Given the description of an element on the screen output the (x, y) to click on. 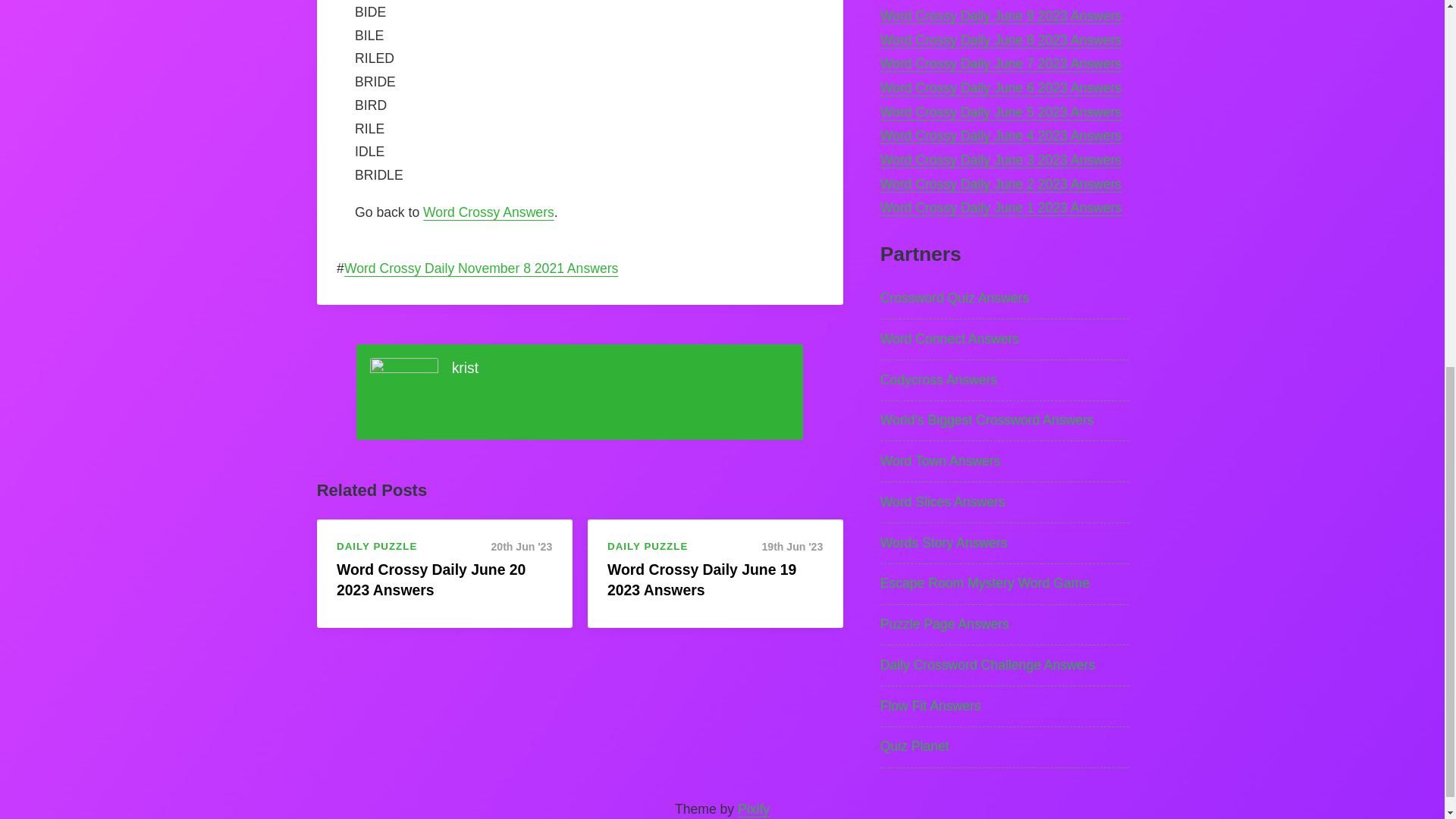
Codycross Answers (1004, 380)
Word Crossy Answers (488, 212)
Word Crossy Daily June 1 2023 Answers (1000, 207)
Word Slices Answers (1004, 502)
Codycross Answers (1004, 380)
Word Slices Answers (1004, 502)
Word Crossy Daily June 7 2023 Answers (1000, 63)
Word Crossy Daily June 20 2023 Answers (430, 579)
Word Crossy Daily June 19 2023 Answers (701, 579)
Word Crossy Daily June 9 2023 Answers (1000, 15)
Word Crossy Daily June 3 2023 Answers (1000, 159)
Words Story Answers (1004, 543)
Word Connect Answers (1004, 339)
Escape Room Mystery Word Game (1004, 584)
Word Town Answers (1004, 461)
